Given the description of an element on the screen output the (x, y) to click on. 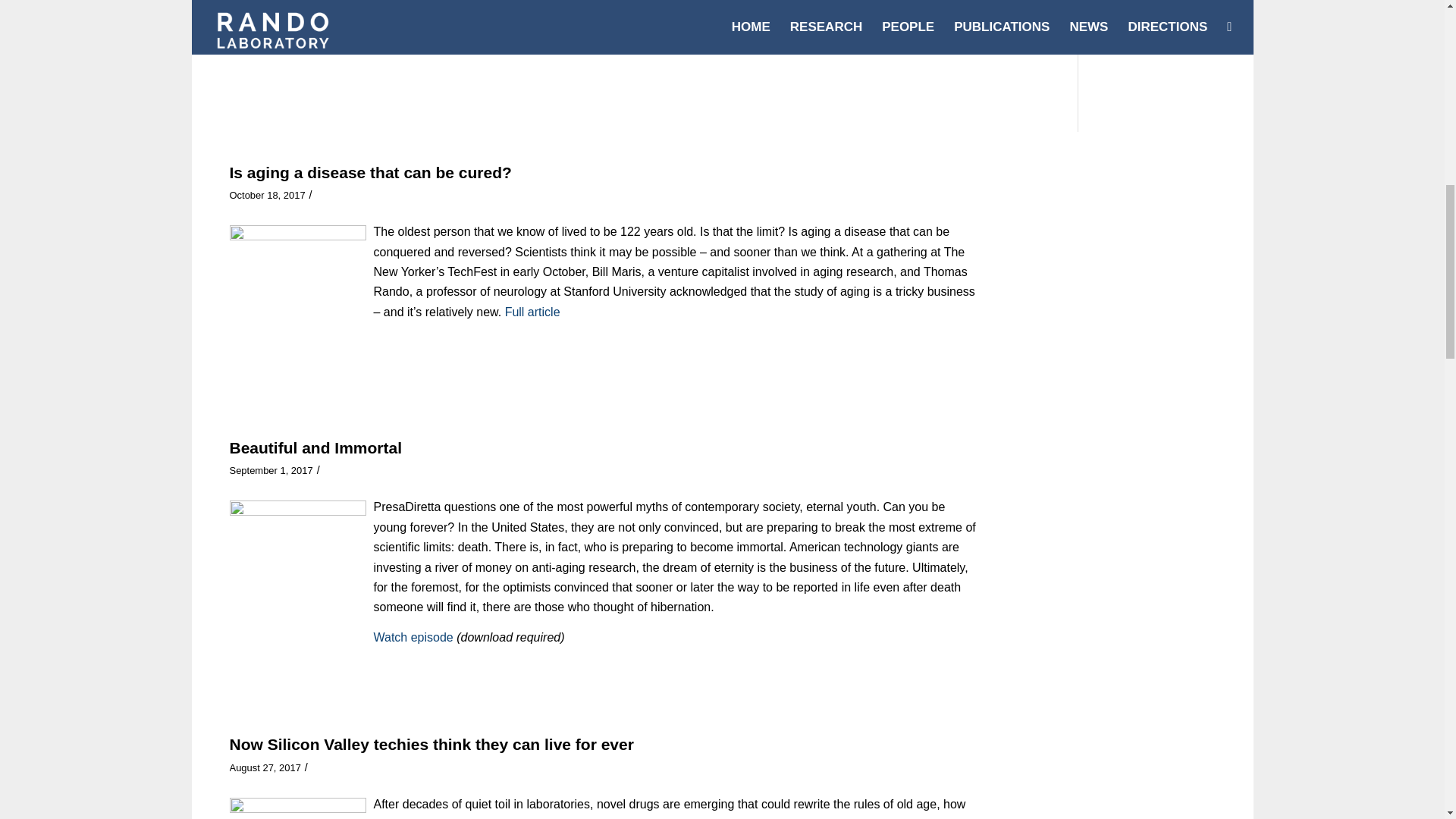
Now Silicon Valley techies think they can live for ever (430, 743)
Full article (701, 1)
Is aging a disease that can be cured? (369, 171)
Watch episode (412, 636)
Beautiful and Immortal (314, 447)
Permanent Link: Is aging a disease that can be cured? (369, 171)
Full article (529, 311)
Permanent Link: Beautiful and Immortal (314, 447)
